Given the description of an element on the screen output the (x, y) to click on. 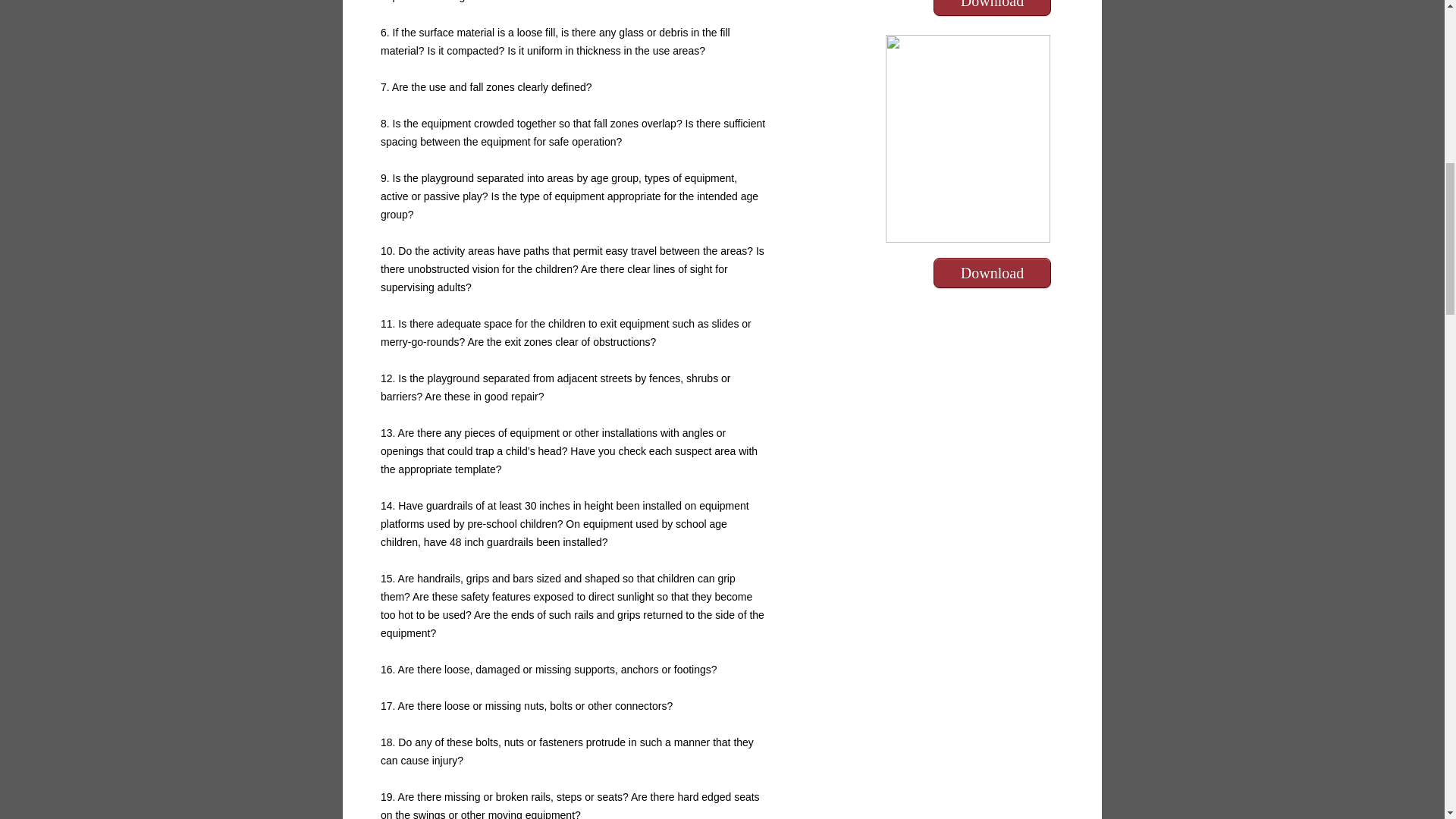
Download (991, 272)
Download (991, 4)
